Given the description of an element on the screen output the (x, y) to click on. 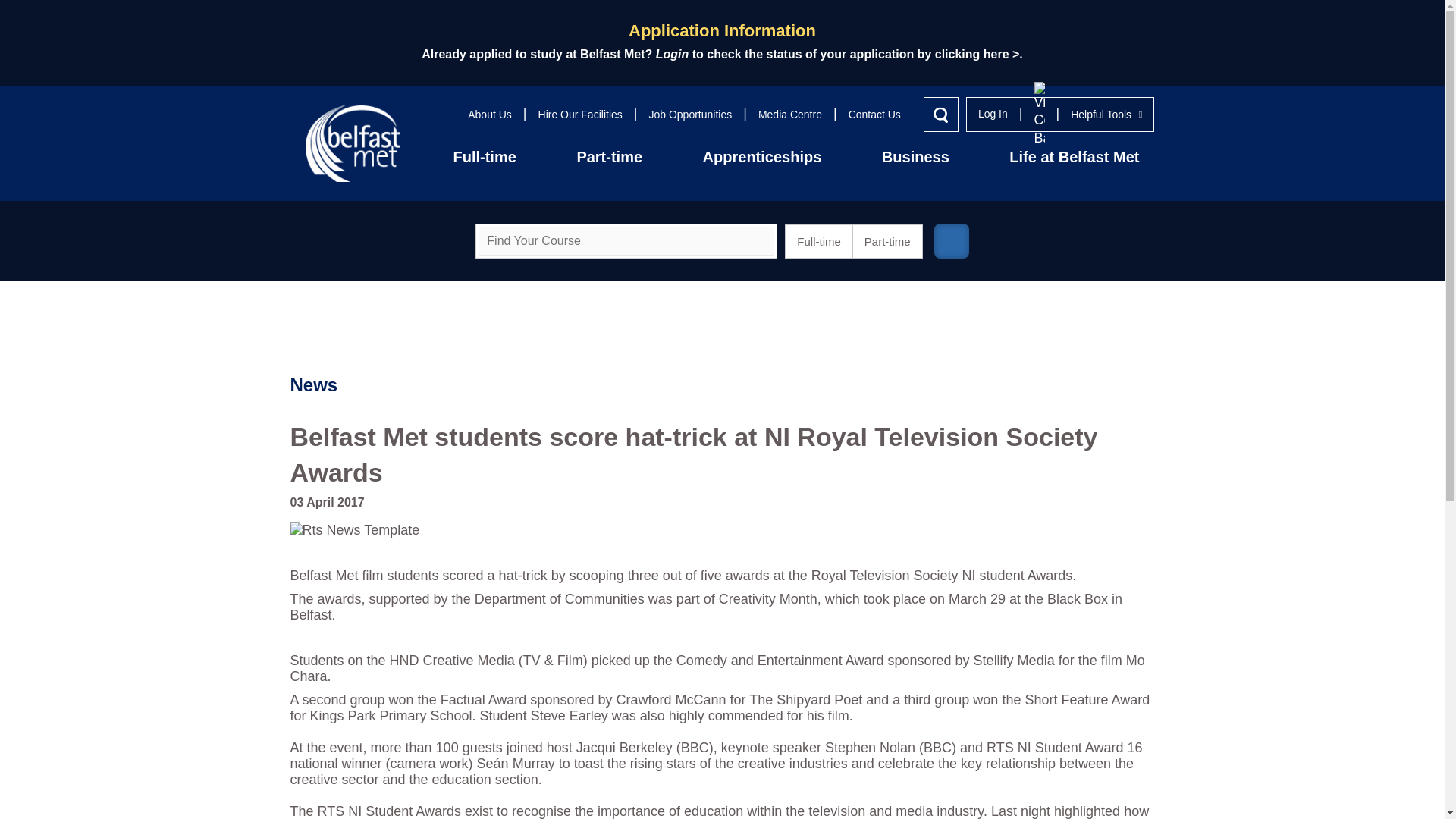
Apprenticeships (762, 156)
Log In (992, 113)
Contact Us (874, 114)
Business (914, 156)
Life at Belfast Met (1074, 156)
Full-time (484, 156)
Hire Our Facilities (580, 114)
Job Opportunities (689, 114)
About Us (489, 114)
Media Centre (790, 114)
